Given the description of an element on the screen output the (x, y) to click on. 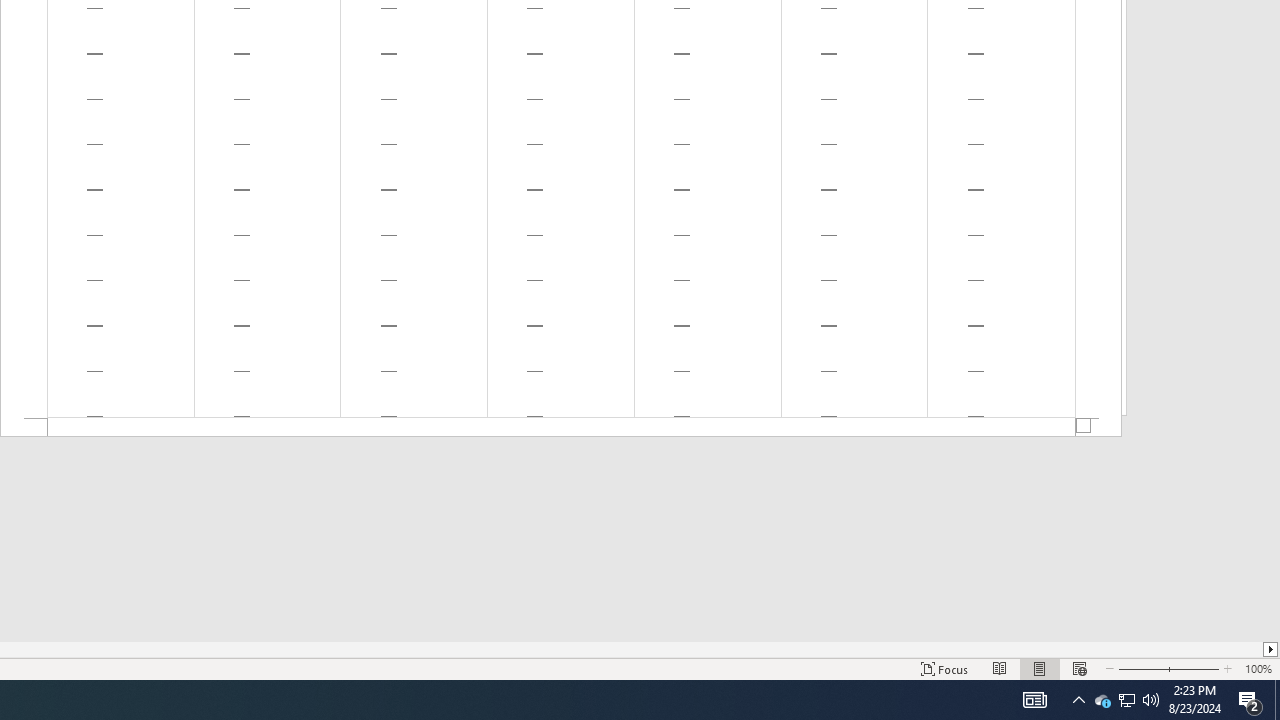
Read Mode (1000, 668)
Zoom Out (1142, 668)
Column right (1271, 649)
Web Layout (1079, 668)
Zoom In (1195, 668)
Focus  (944, 668)
Print Layout (1039, 668)
Footer -Section 1- (561, 427)
